Given the description of an element on the screen output the (x, y) to click on. 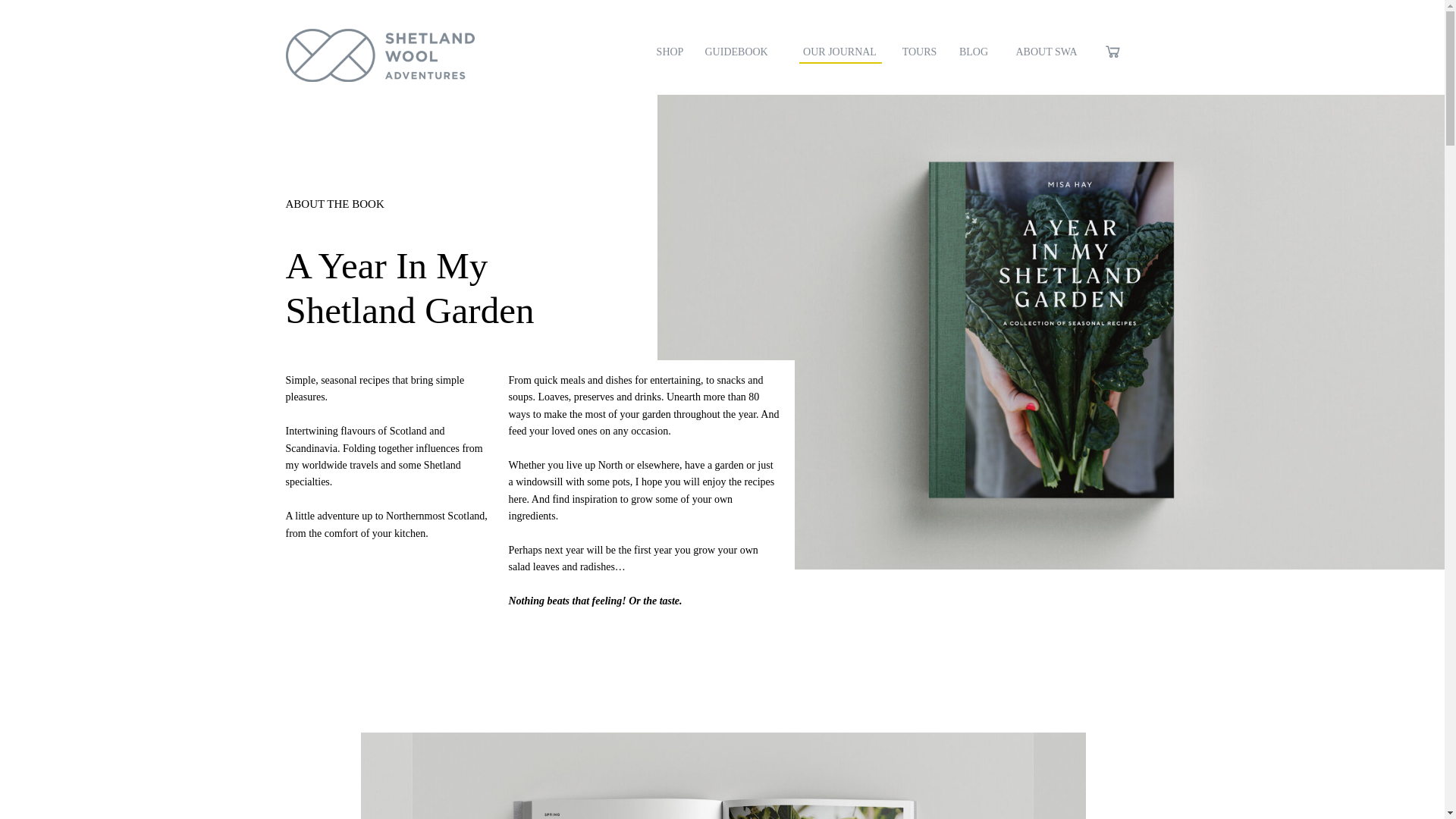
BLOG (972, 53)
TOURS (919, 53)
ABOUT SWA (1046, 53)
SHOP (670, 53)
GUIDEBOOK (741, 53)
OUR JOURNAL (839, 53)
